Given the description of an element on the screen output the (x, y) to click on. 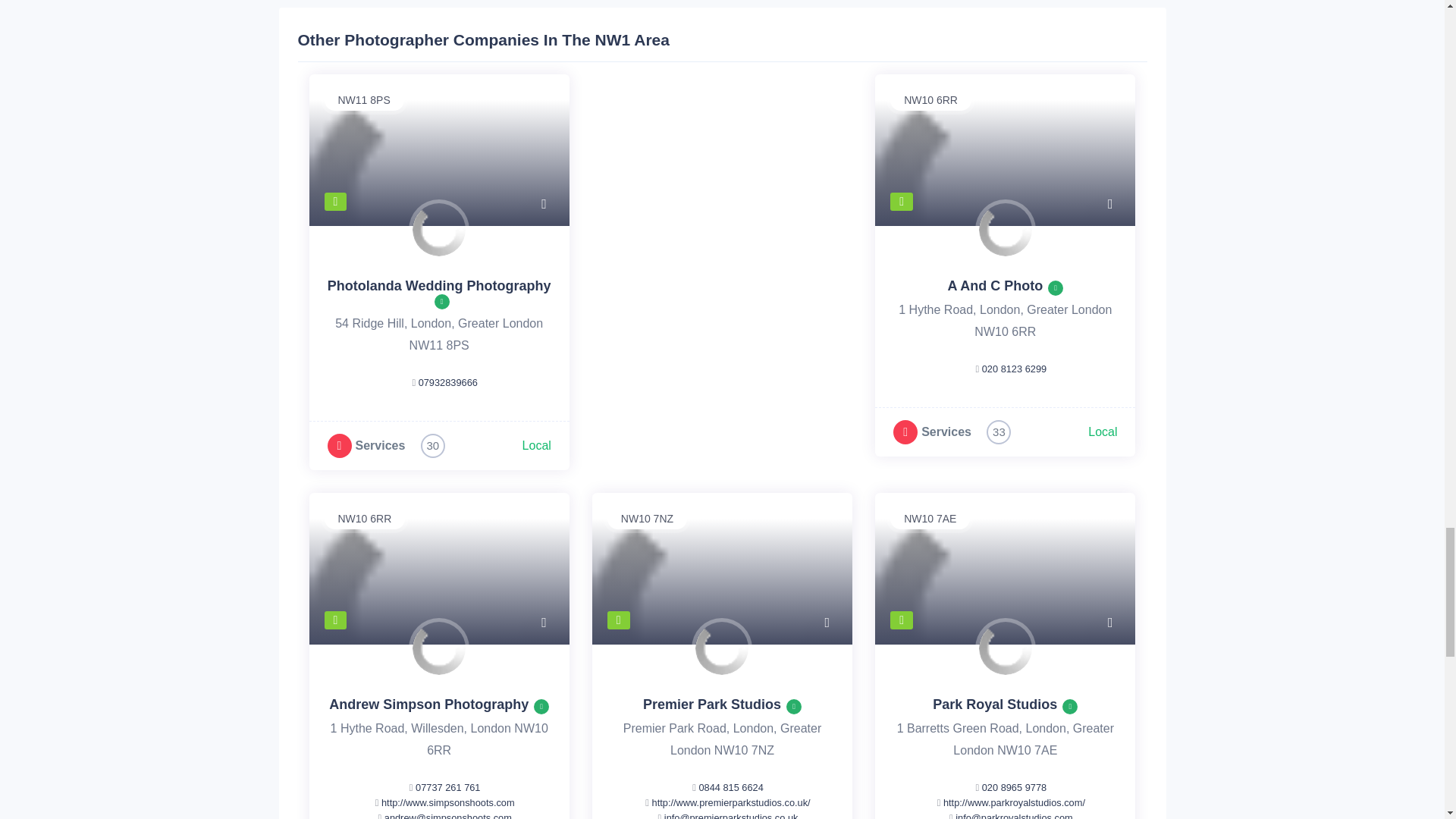
Services (379, 445)
Photolanda Wedding Photography (439, 285)
Services (946, 431)
A And C Photo (995, 285)
020 8123 6299 (1013, 368)
07932839666 (448, 382)
